Given the description of an element on the screen output the (x, y) to click on. 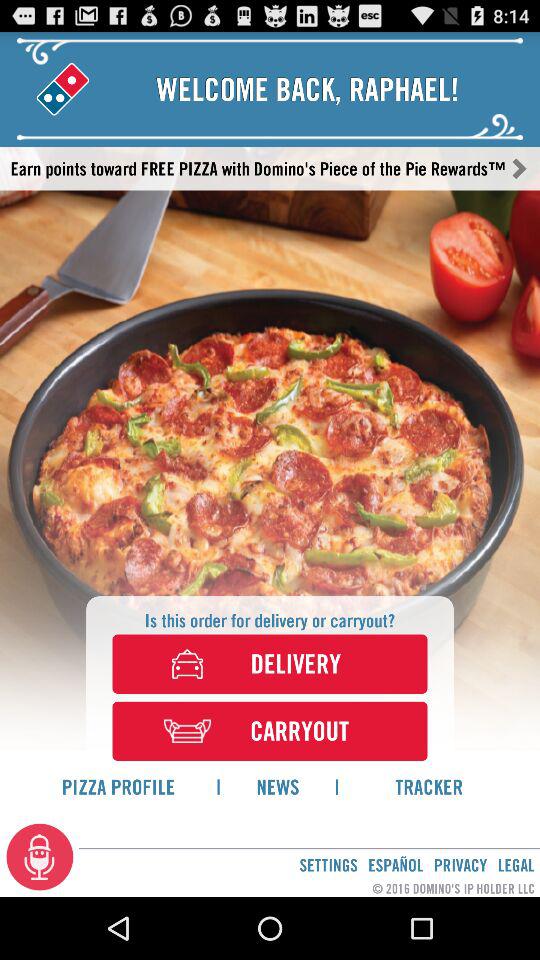
tap icon next to settings app (395, 864)
